Given the description of an element on the screen output the (x, y) to click on. 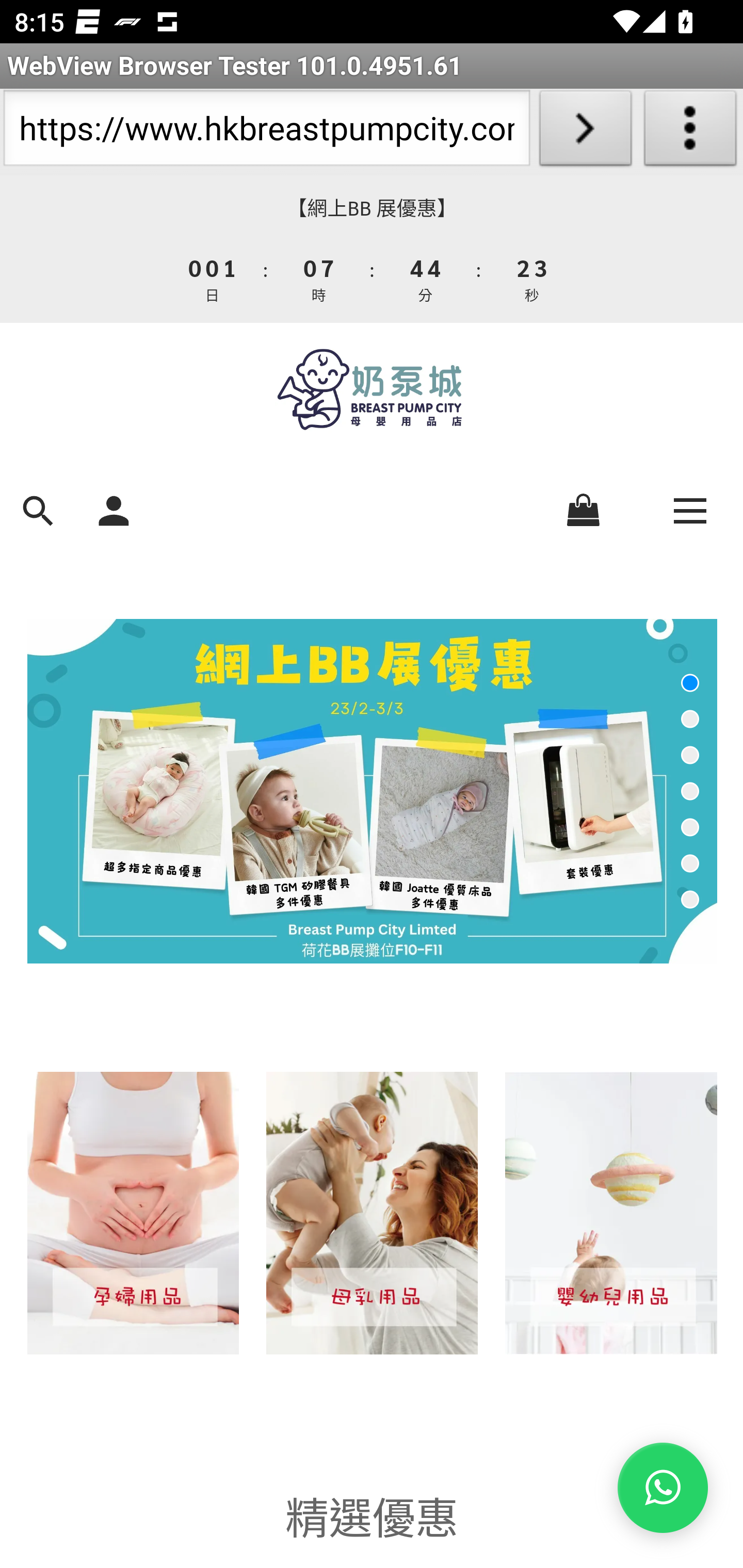
Load URL (585, 132)
About WebView (690, 132)
【網上BB 展優惠】 (371, 208)
3 2 1 0 3 2 1 0 4 3 2 1 0 日 (213, 277)
3 2 1 0 9 8 7 6 5 4 3 2 1 0 時 (318, 277)
7 6 5 4 3 2 1 0 7 6 5 4 3 2 1 0 分 (425, 277)
5 4 3 2 1 0 6 5 4 3 2 1 0 秒 (530, 277)
594x (371, 389)
sign_in (113, 508)
•  baby-fair-sales (371, 790)
精選優惠 (371, 1514)
